Given the description of an element on the screen output the (x, y) to click on. 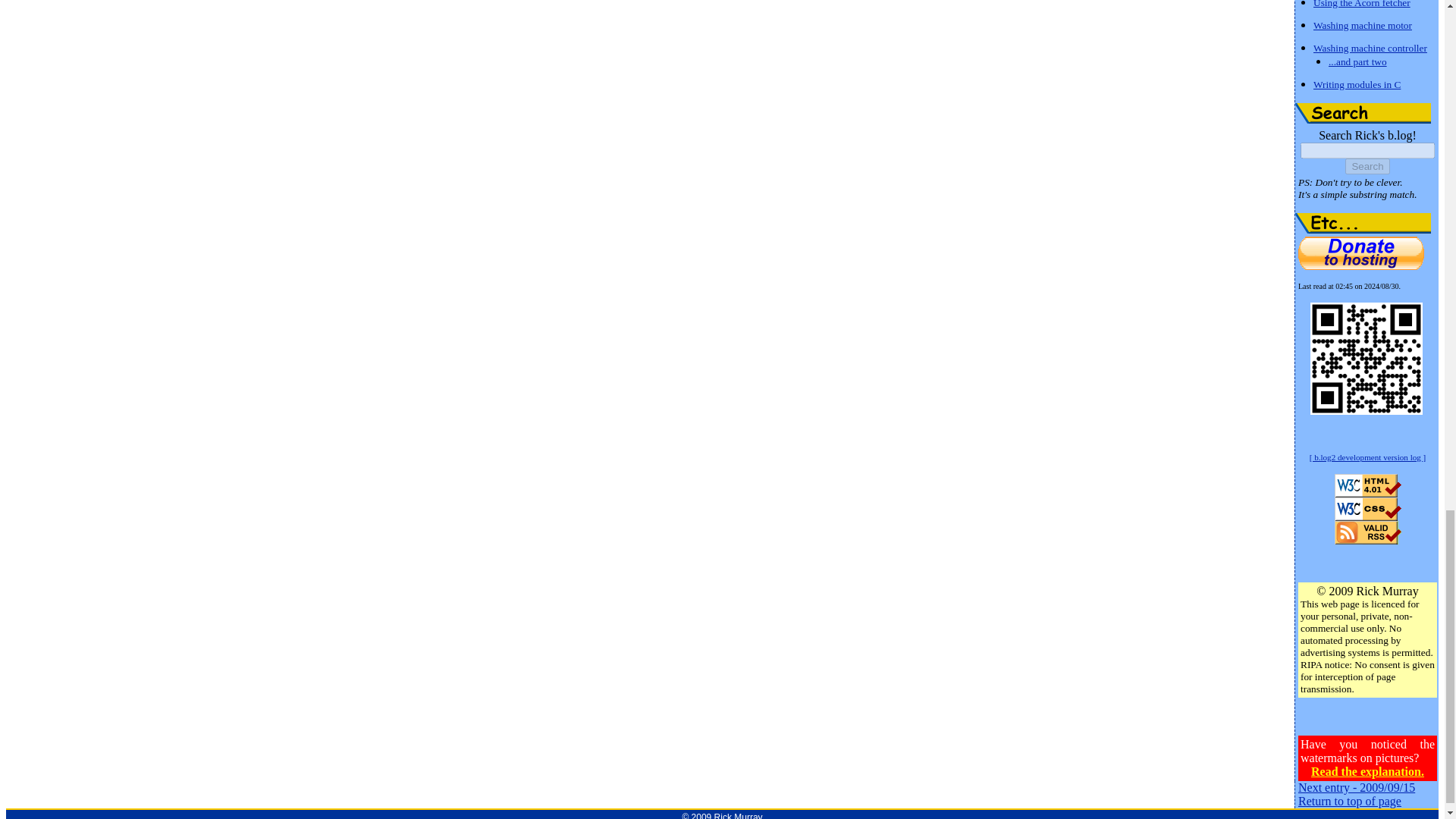
Search (1367, 166)
Search (1363, 113)
Etc... (1363, 222)
